Given the description of an element on the screen output the (x, y) to click on. 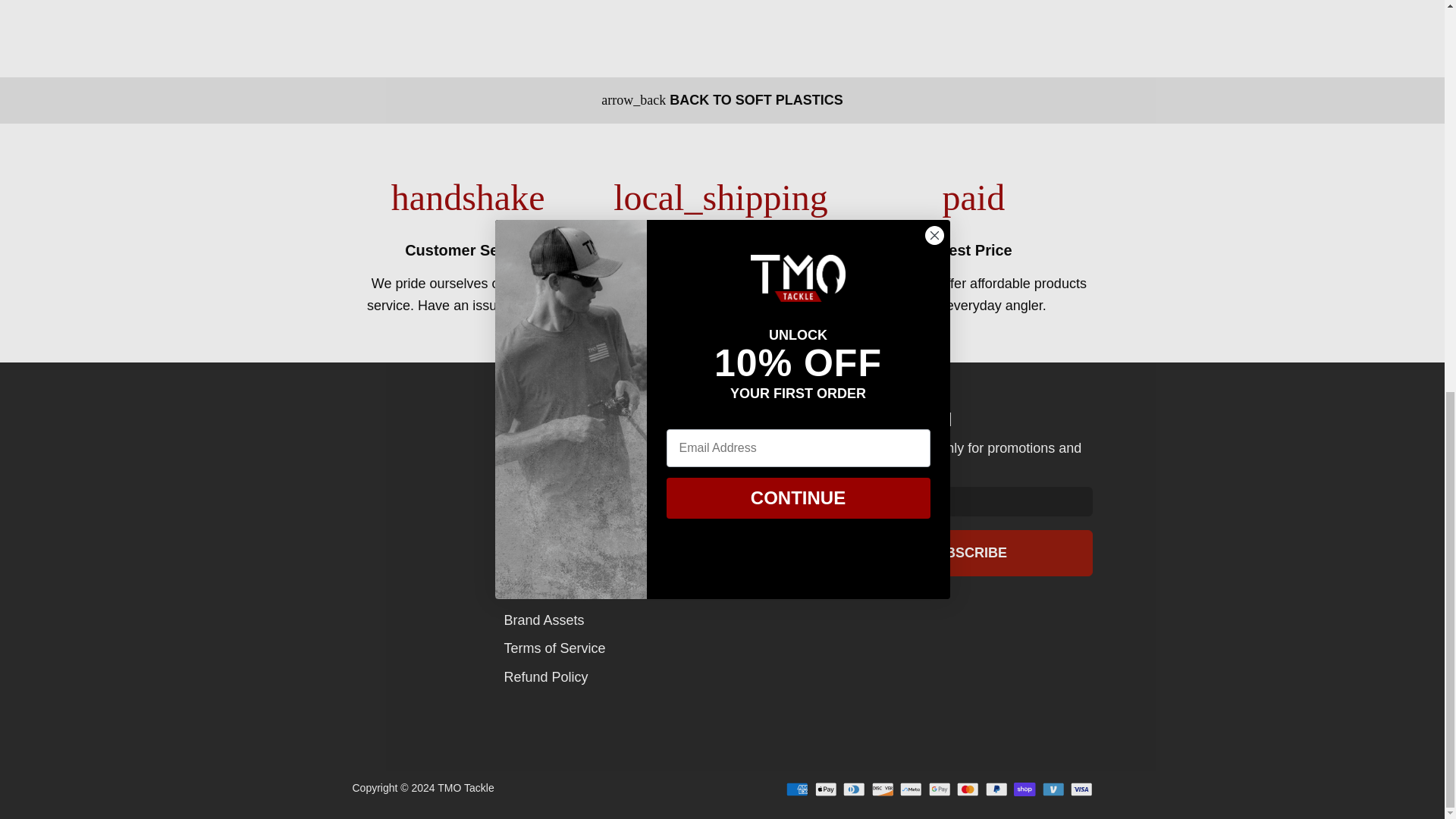
Meta Pay (910, 789)
Visa (1081, 789)
PayPal (996, 789)
Google Pay (938, 789)
Apple Pay (824, 789)
Diners Club (853, 789)
Venmo (1052, 789)
Discover (882, 789)
Mastercard (967, 789)
Shop Pay (1024, 789)
American Express (797, 789)
